Given the description of an element on the screen output the (x, y) to click on. 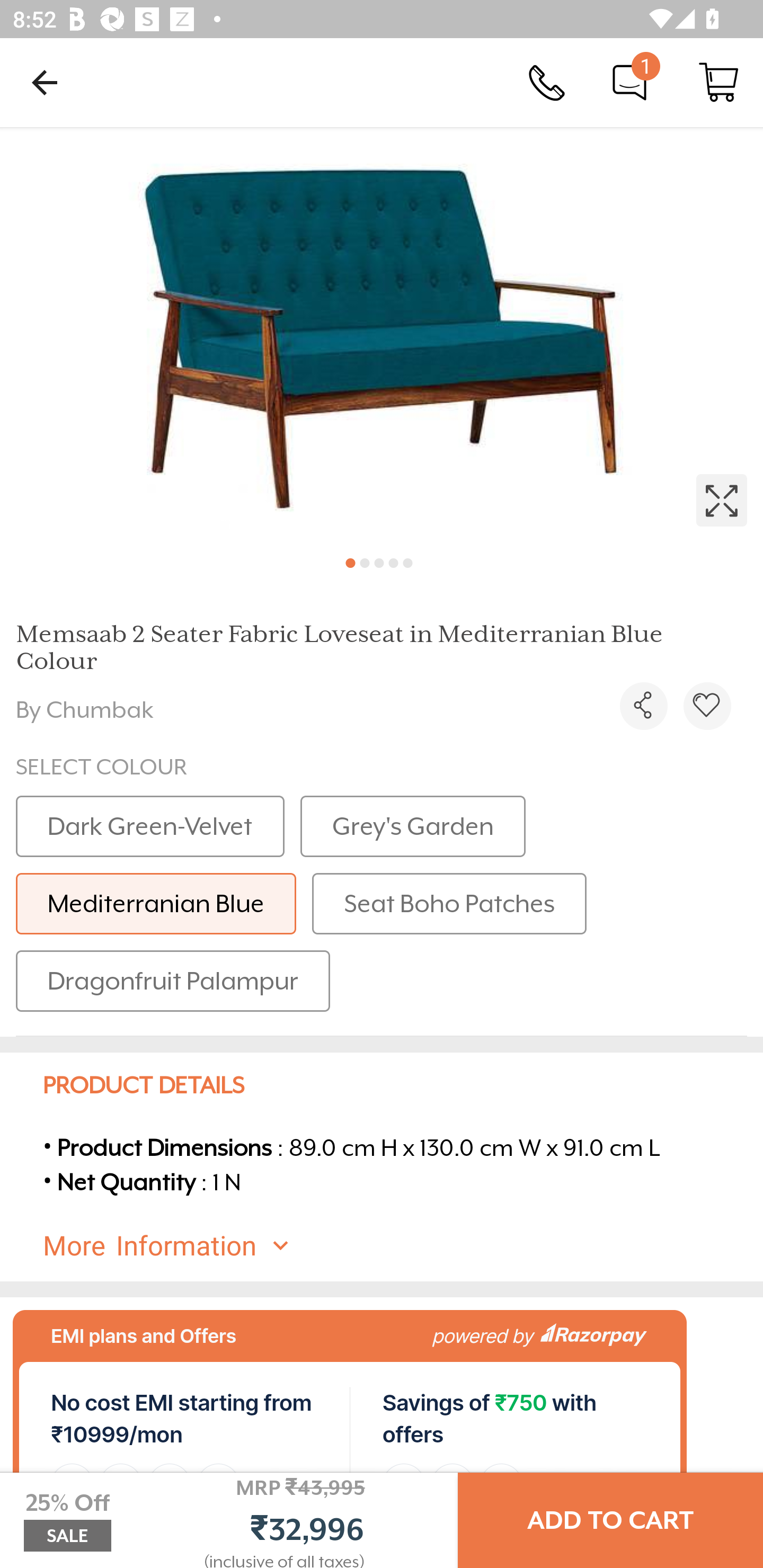
Navigate up (44, 82)
Call Us (546, 81)
Chat (629, 81)
Cart (718, 81)
 (381, 334)
 (643, 706)
 (706, 706)
Dark Green-Velvet (150, 825)
Grey's Garden (412, 825)
Mediterranian Blue (156, 903)
Seat Boho Patches (449, 903)
Dragonfruit Palampur (173, 980)
More Information  (396, 1245)
ADD TO CART (610, 1520)
